Given the description of an element on the screen output the (x, y) to click on. 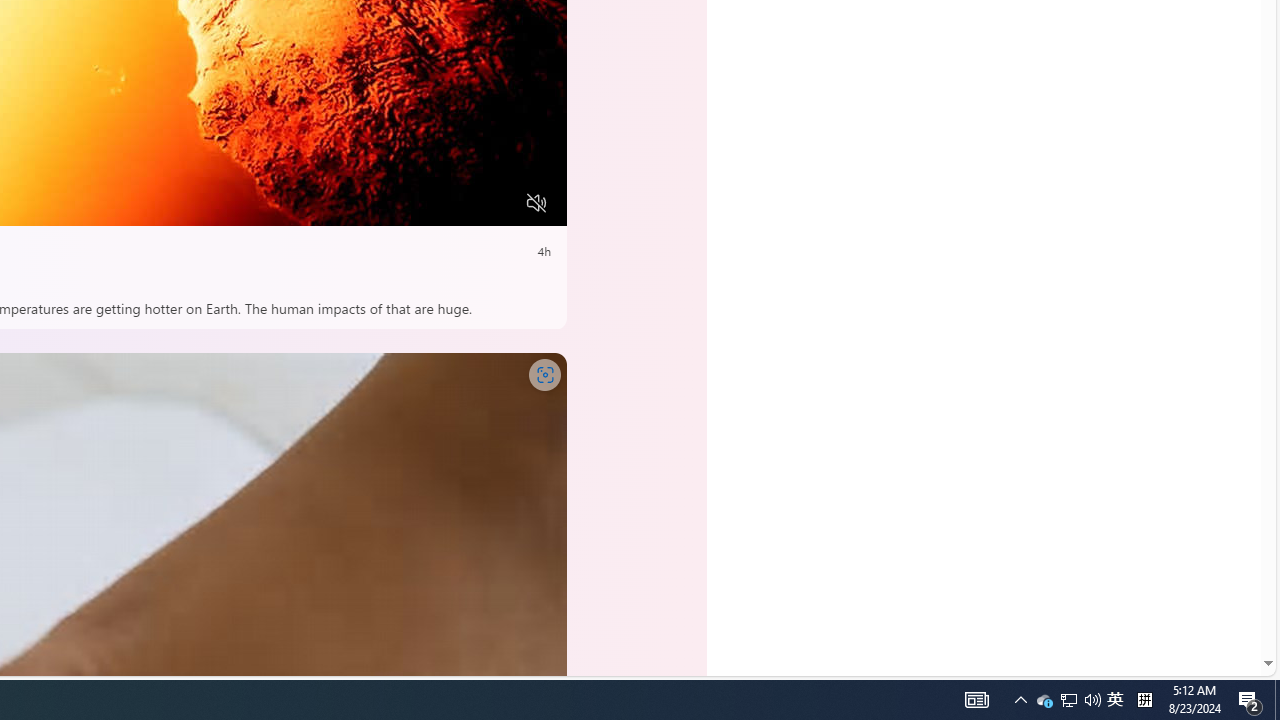
Captions (457, 203)
Quality Settings (418, 203)
Fullscreen (497, 203)
Unmute (535, 203)
